Given the description of an element on the screen output the (x, y) to click on. 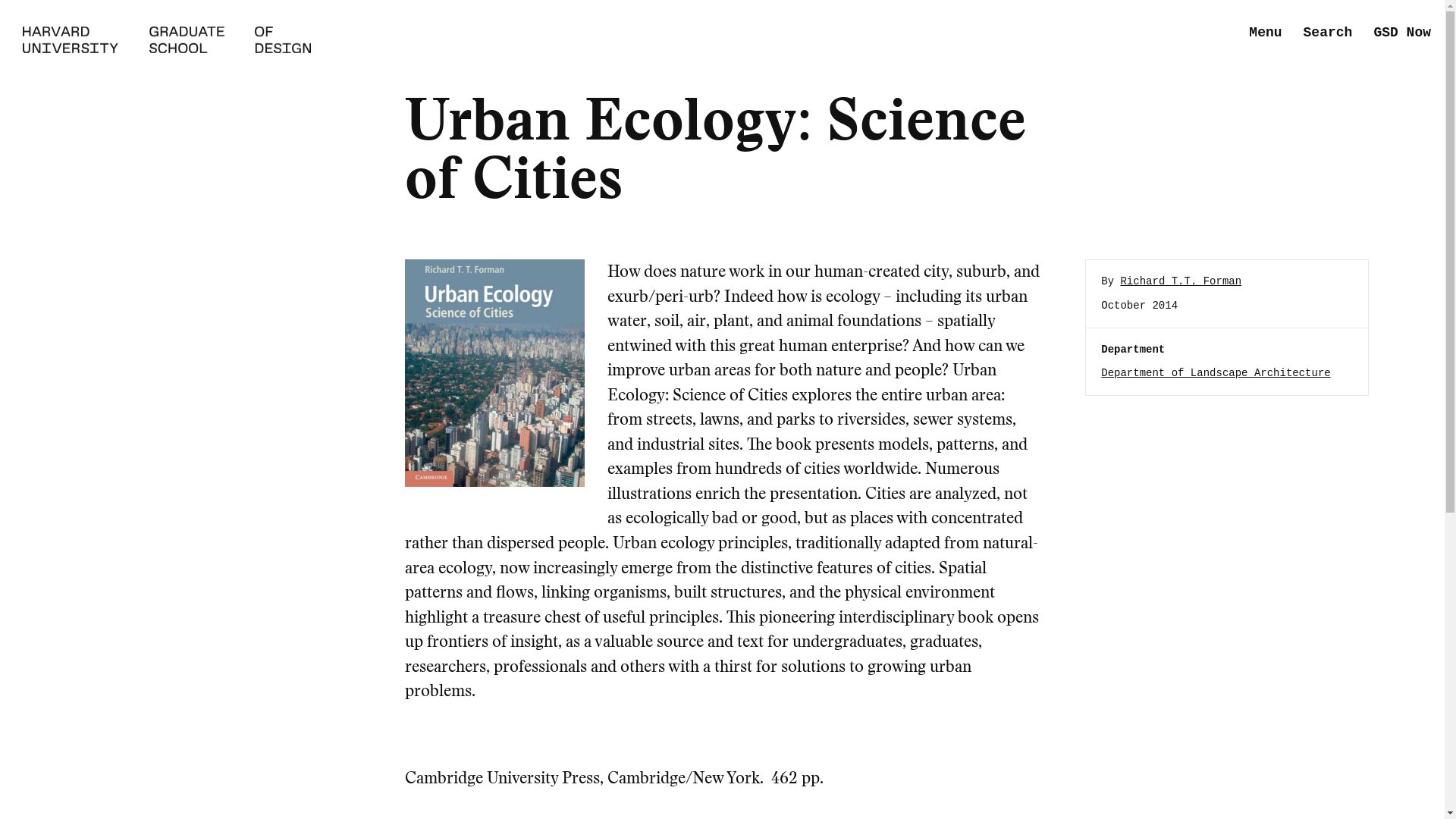
Menu (1265, 32)
Search (1327, 32)
GSD Now (1402, 32)
